Given the description of an element on the screen output the (x, y) to click on. 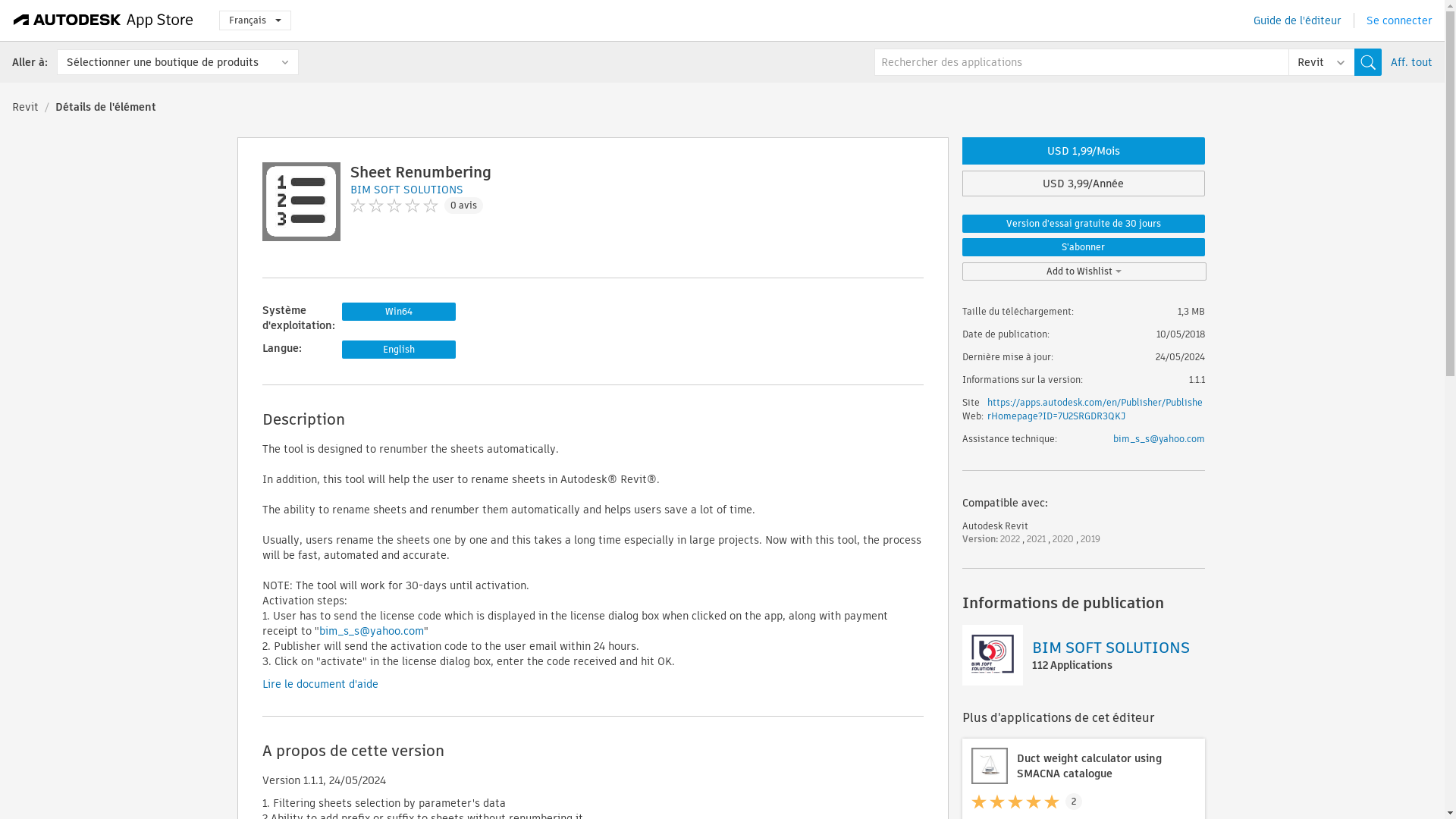
Se connecter (1399, 20)
Sheet Renumbering (421, 171)
Autodesk App Store (103, 20)
